Given the description of an element on the screen output the (x, y) to click on. 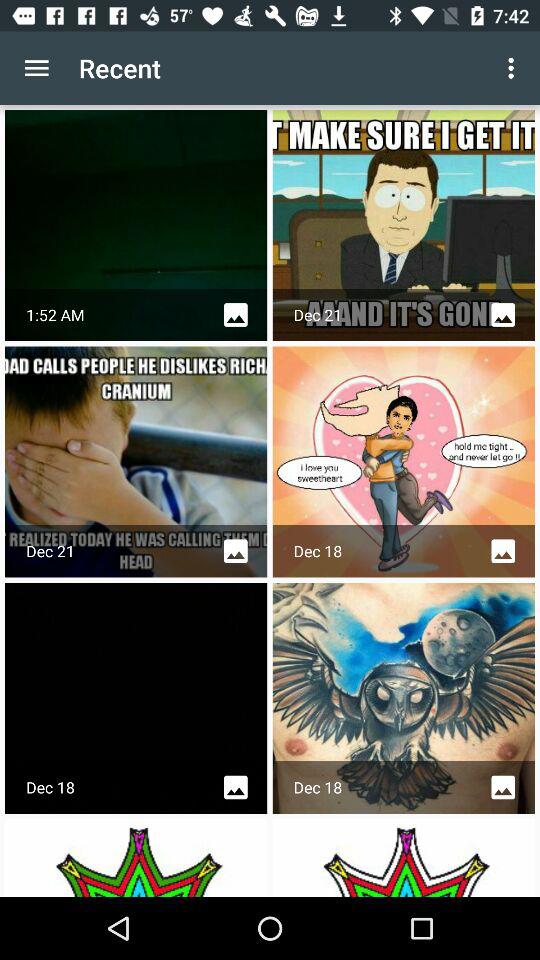
turn on app next to recent app (513, 67)
